Given the description of an element on the screen output the (x, y) to click on. 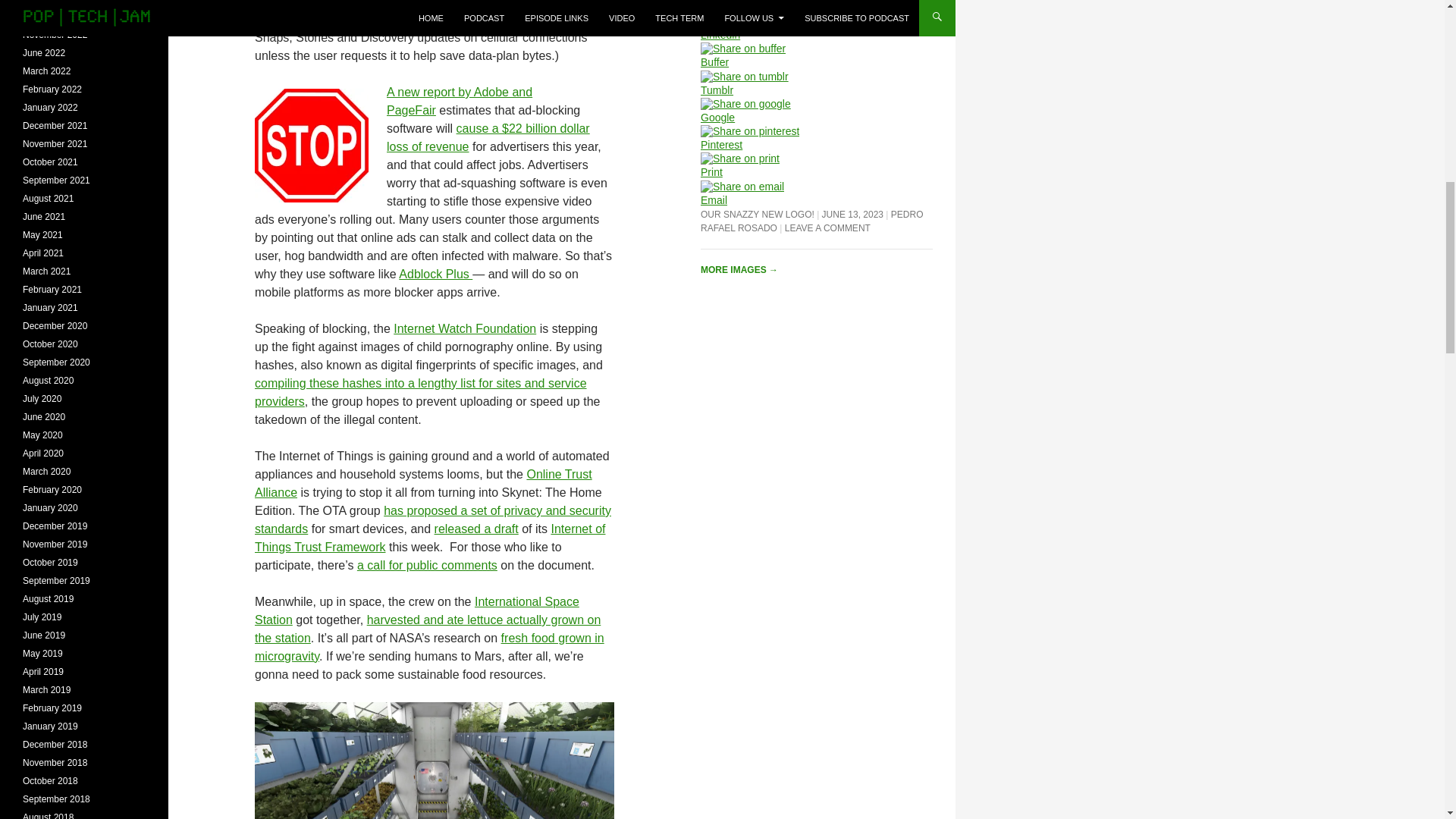
, Snapchat has introduced a new Travel Mode (425, 12)
Online Trust Alliance (423, 482)
Adblock Plus (434, 273)
has proposed a set of privacy and security standards (432, 519)
A new report by Adobe and PageFair (459, 101)
Internet Watch Foundation (464, 328)
released a draft (475, 528)
